Given the description of an element on the screen output the (x, y) to click on. 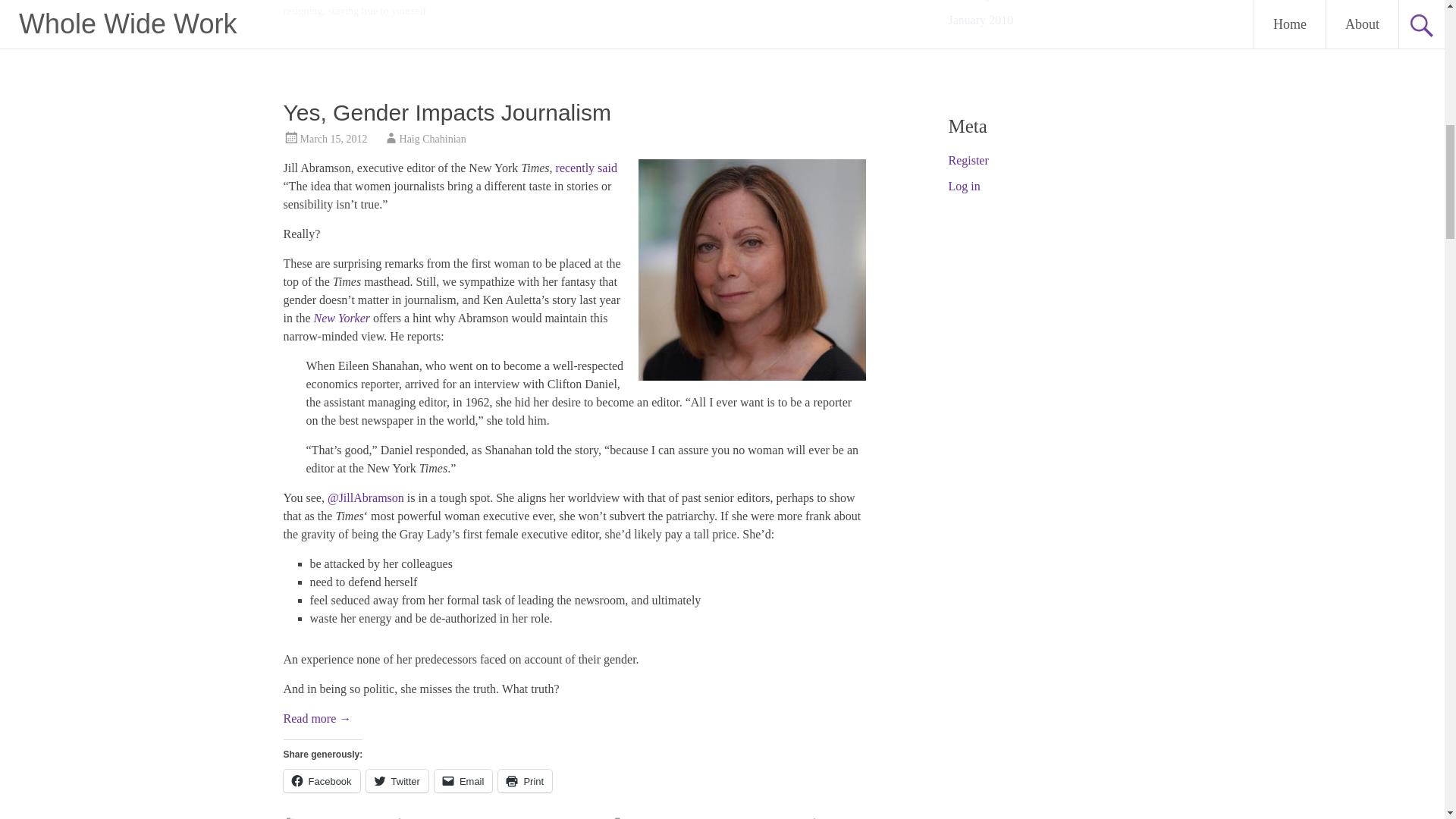
Changing Times: Jill Abramson takes charge of the Gray Lady (342, 318)
staying true to yourself (377, 10)
Facebook (321, 780)
Click to email a link to a friend (463, 780)
resigning (303, 10)
recently said (586, 167)
Haig Chahinian (431, 138)
Yes, Gender Impacts Journalism (447, 112)
New Yorker (342, 318)
Click to share on Twitter (397, 780)
